Given the description of an element on the screen output the (x, y) to click on. 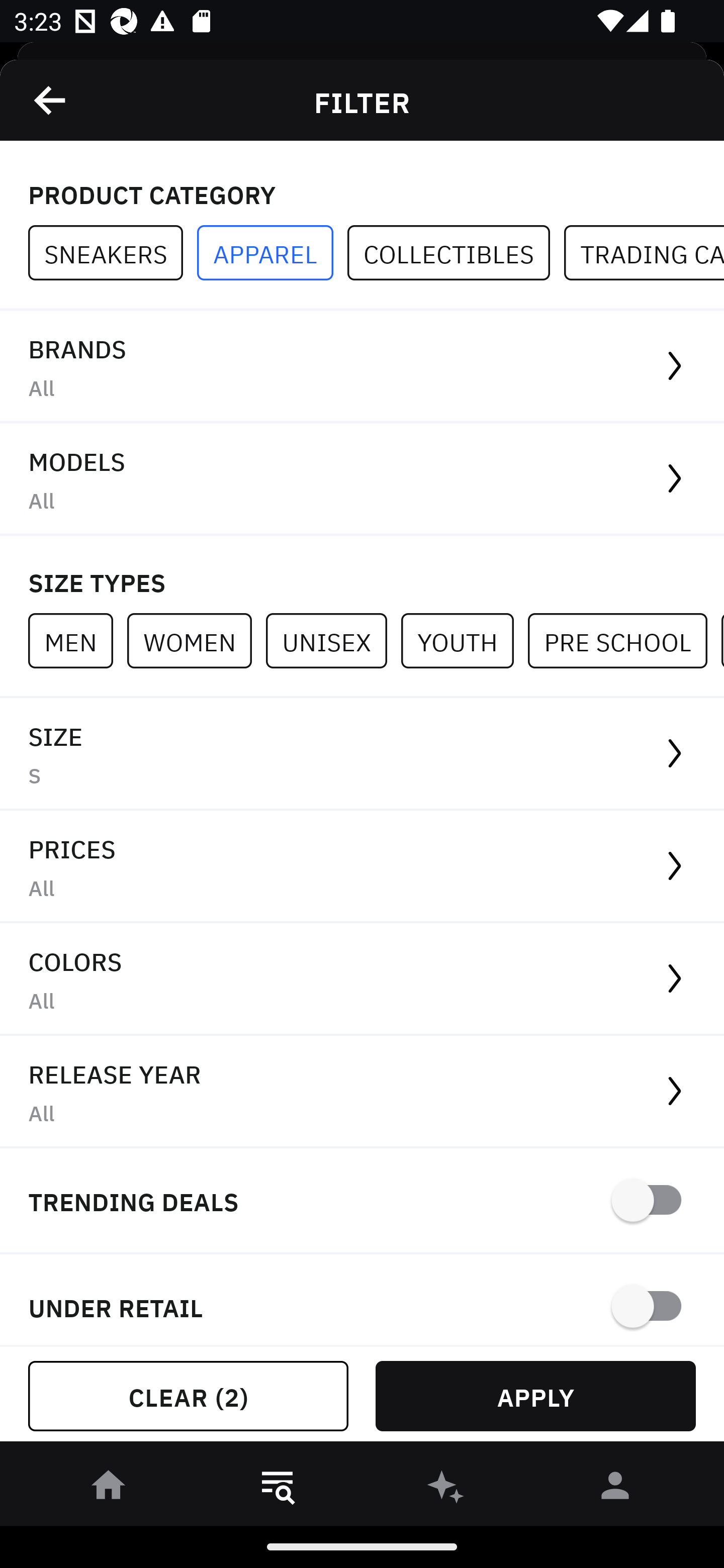
 (50, 100)
SNEAKERS (112, 252)
APPAREL (271, 252)
COLLECTIBLES (455, 252)
TRADING CARDS (643, 252)
BRANDS All (362, 366)
MODELS All (362, 479)
MEN (77, 640)
WOMEN (196, 640)
UNISEX (333, 640)
YOUTH (464, 640)
PRE SCHOOL (624, 640)
SIZE S (362, 753)
PRICES All (362, 866)
COLORS All (362, 979)
RELEASE YEAR All (362, 1091)
TRENDING DEALS (362, 1200)
UNDER RETAIL (362, 1299)
CLEAR (2) (188, 1396)
APPLY (535, 1396)
󰋜 (108, 1488)
󱎸 (277, 1488)
󰫢 (446, 1488)
󰀄 (615, 1488)
